Given the description of an element on the screen output the (x, y) to click on. 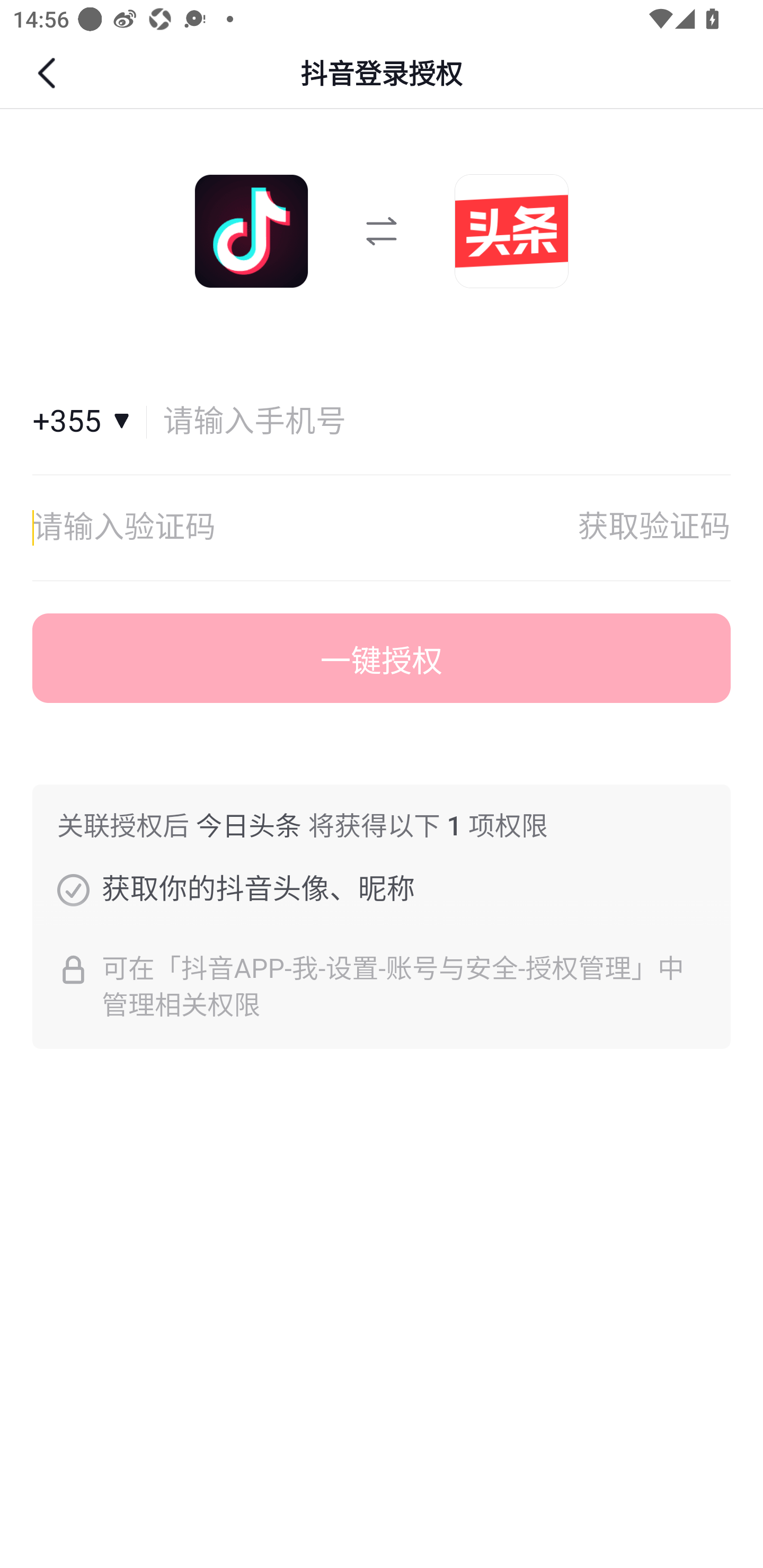
返回 (49, 72)
国家和地区+355 (90, 421)
获取验证码 (653, 527)
一键授权 (381, 658)
获取你的抖音头像、昵称 (72, 889)
